Given the description of an element on the screen output the (x, y) to click on. 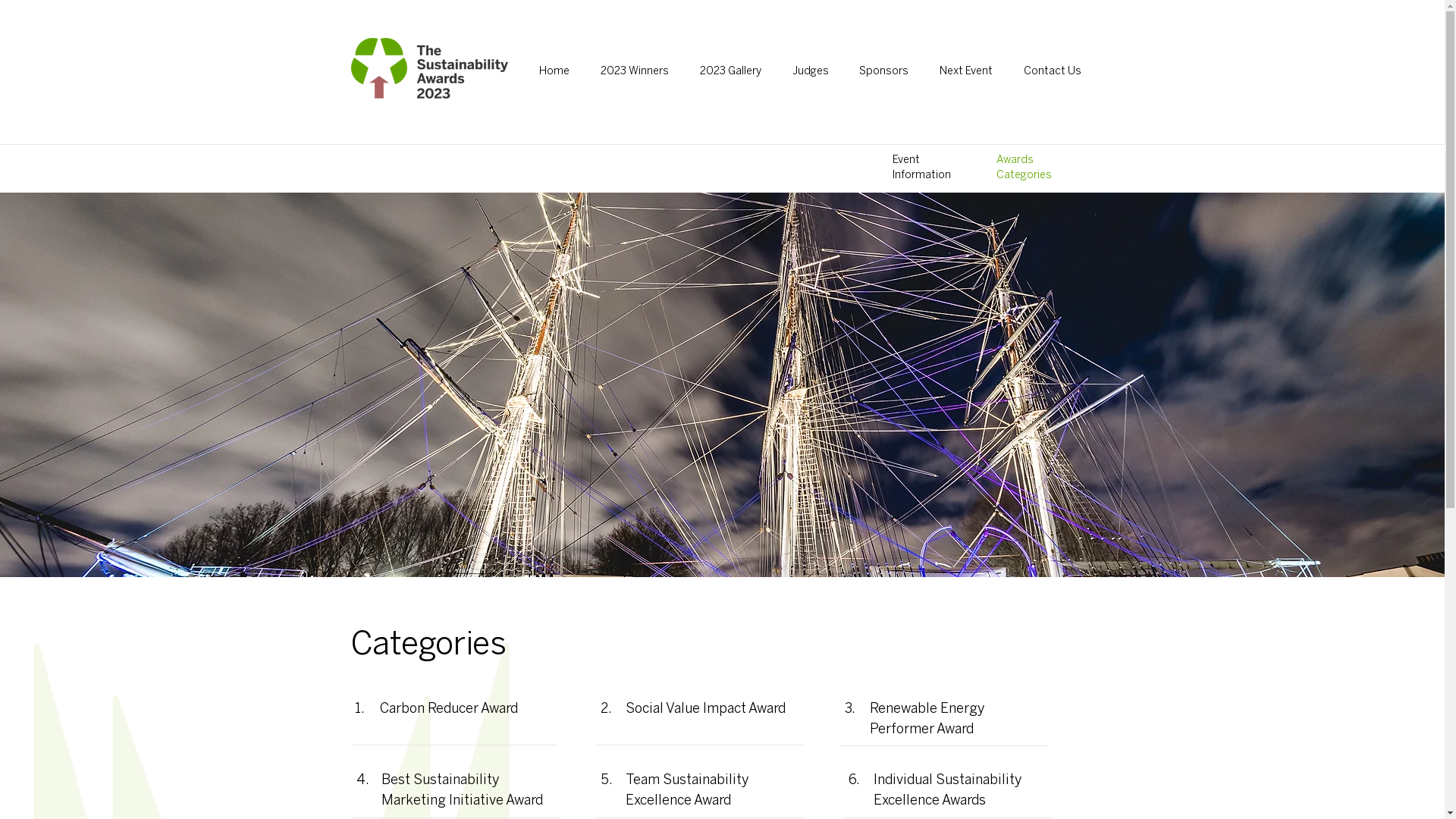
Contact Us Element type: text (1052, 71)
Awards Categories Element type: text (1023, 167)
Judges Element type: text (809, 71)
Event Information Element type: text (920, 167)
Sponsors Element type: text (884, 71)
2023 Gallery Element type: text (730, 71)
2023 Winners Element type: text (633, 71)
Home Element type: text (553, 71)
Next Event Element type: text (966, 71)
